Given the description of an element on the screen output the (x, y) to click on. 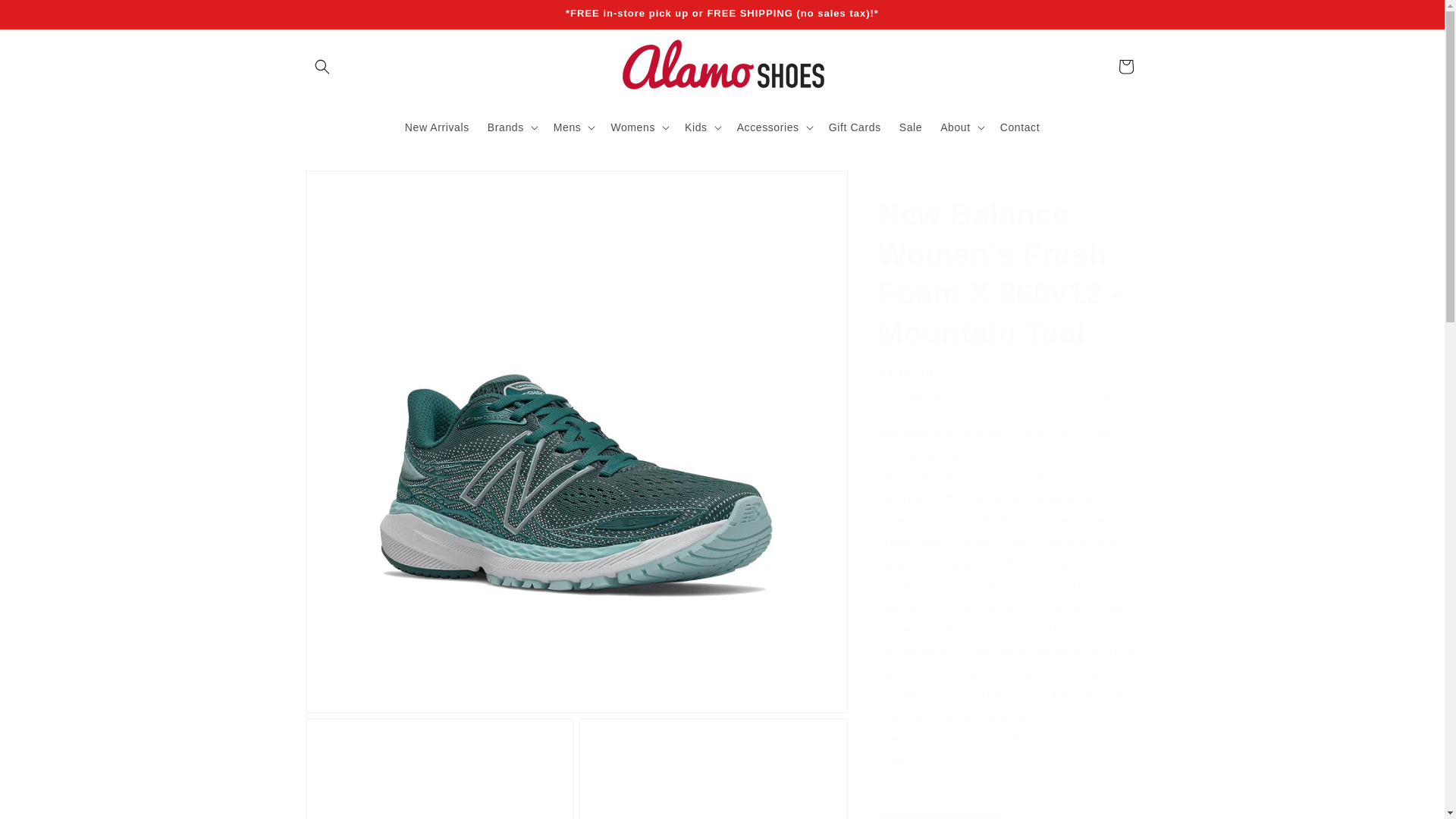
Skip to content (46, 18)
Open media 3 in modal (713, 769)
Open media 2 in modal (438, 769)
